Given the description of an element on the screen output the (x, y) to click on. 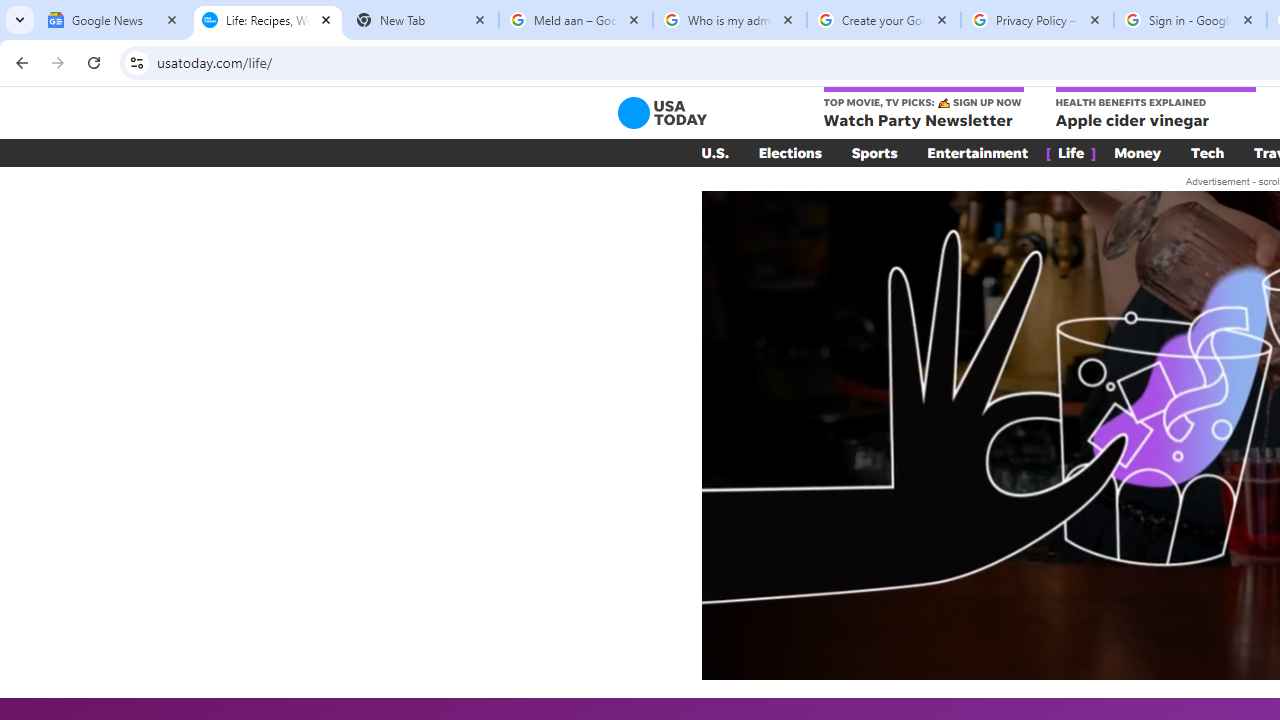
[ Life ] (1071, 152)
Money (1137, 152)
Life: Recipes, Wellness & Horoscopes - USA TODAY (267, 20)
New Tab (421, 20)
Elections (789, 152)
